Given the description of an element on the screen output the (x, y) to click on. 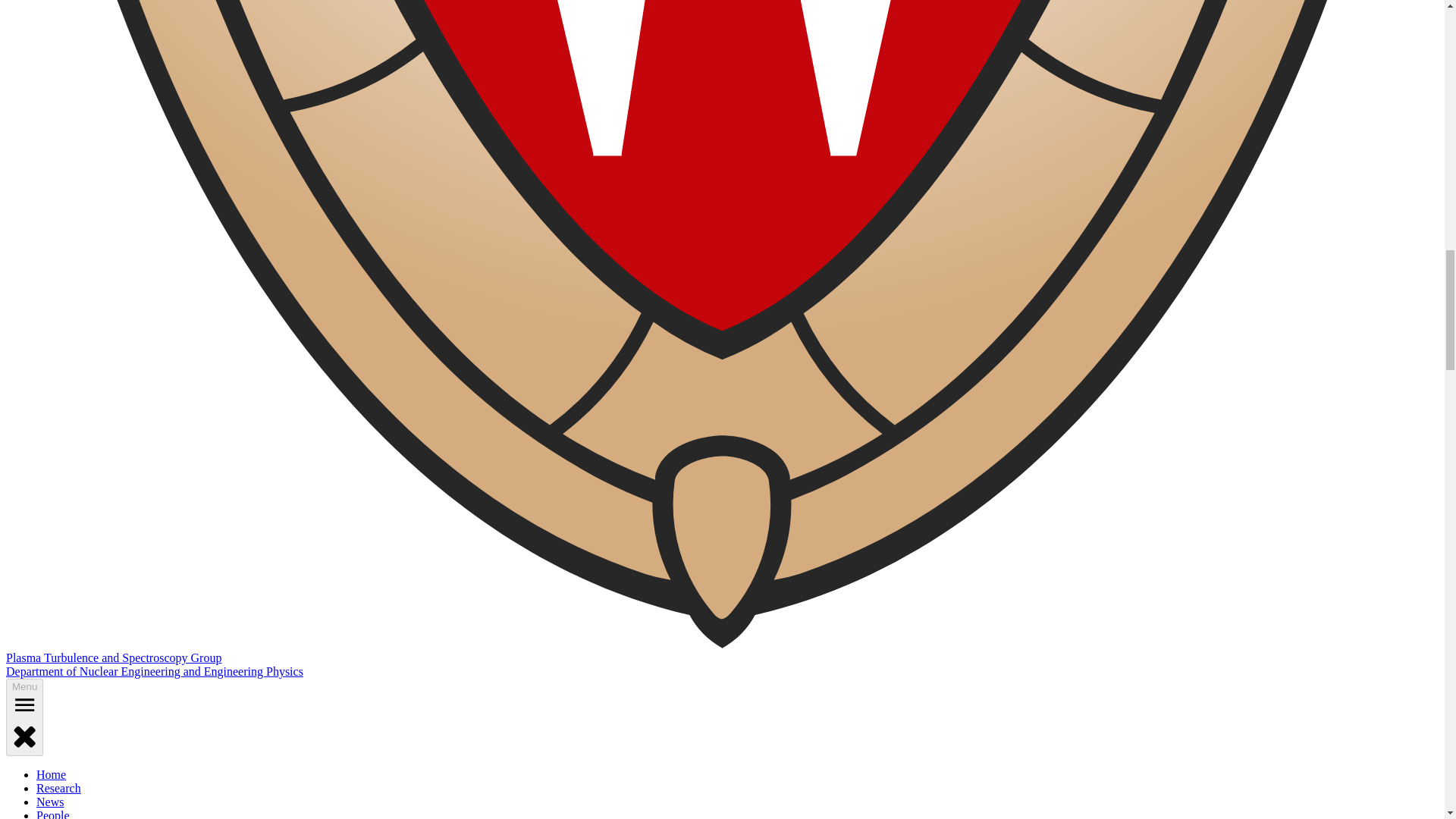
News (50, 801)
Research (58, 788)
People (52, 814)
Plasma Turbulence and Spectroscopy Group (113, 657)
open menu (24, 704)
Department of Nuclear Engineering and Engineering Physics (153, 671)
Home (50, 774)
